Given the description of an element on the screen output the (x, y) to click on. 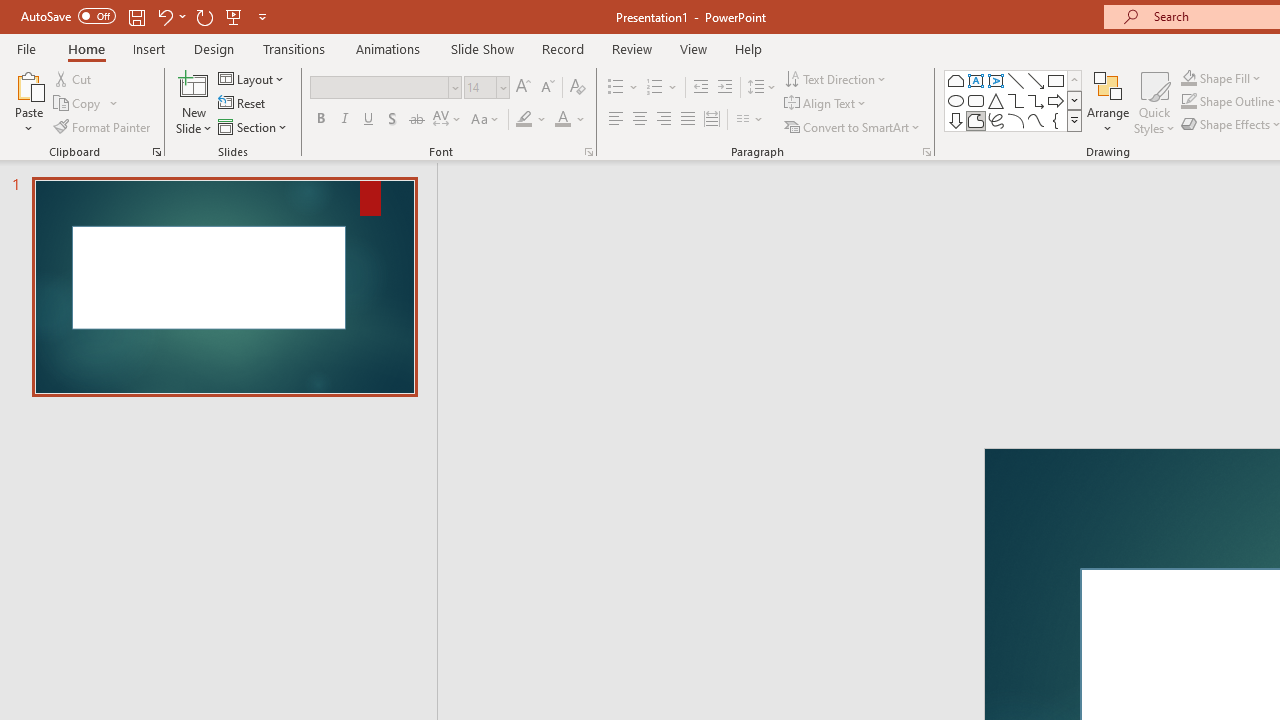
Shape Fill Orange, Accent 2 (1188, 78)
Text Highlight Color Yellow (524, 119)
Layout (252, 78)
Increase Indent (725, 87)
Rectangle: Rounded Corners (975, 100)
Font Color Red (562, 119)
Connector: Elbow Arrow (1035, 100)
Rectangle (1055, 80)
Section (254, 126)
Vertical Text Box (995, 80)
Clear Formatting (577, 87)
Line Spacing (762, 87)
Align Left (616, 119)
Left Brace (1055, 120)
